Given the description of an element on the screen output the (x, y) to click on. 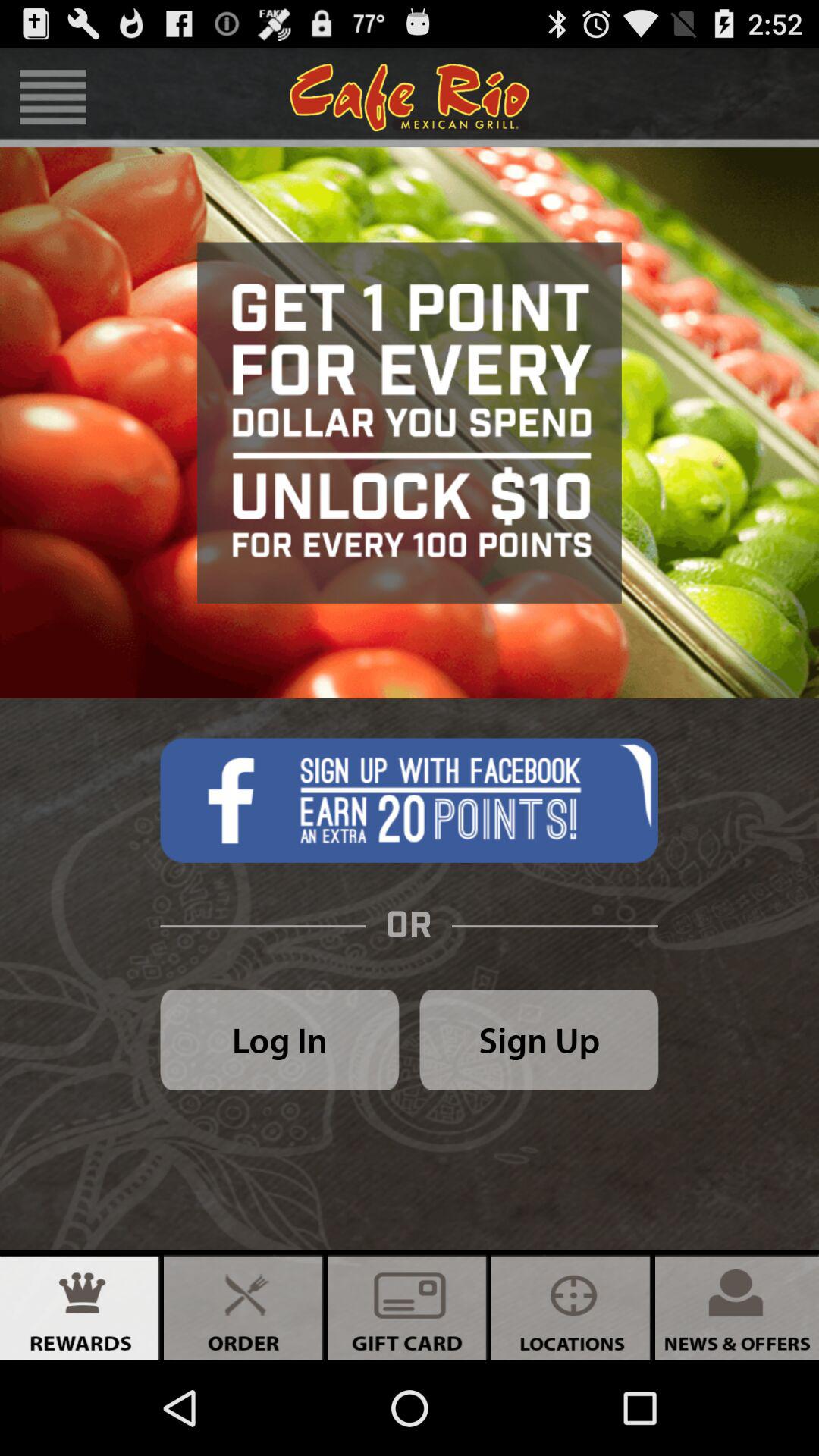
facebook (409, 800)
